Given the description of an element on the screen output the (x, y) to click on. 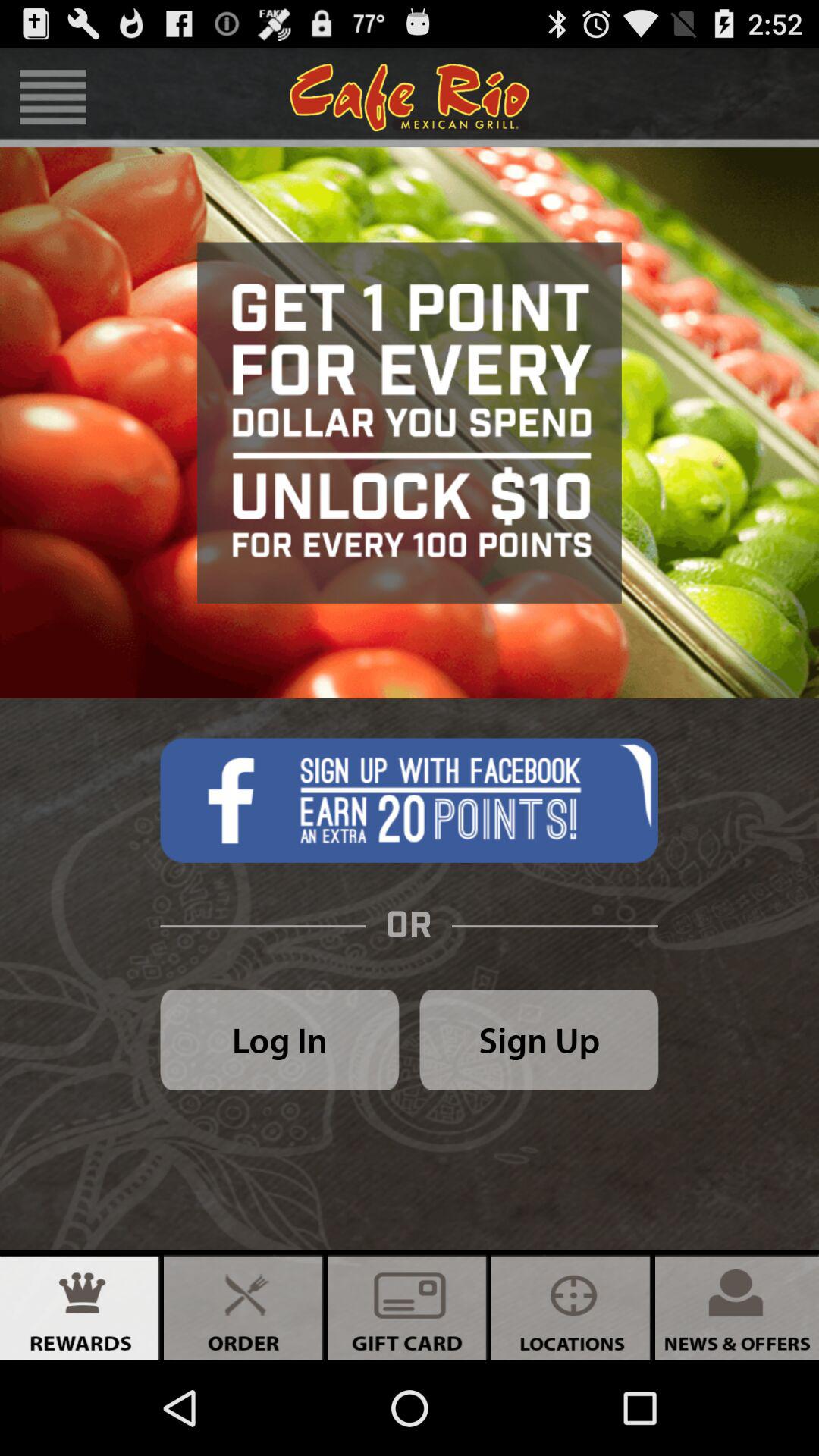
facebook (409, 800)
